Given the description of an element on the screen output the (x, y) to click on. 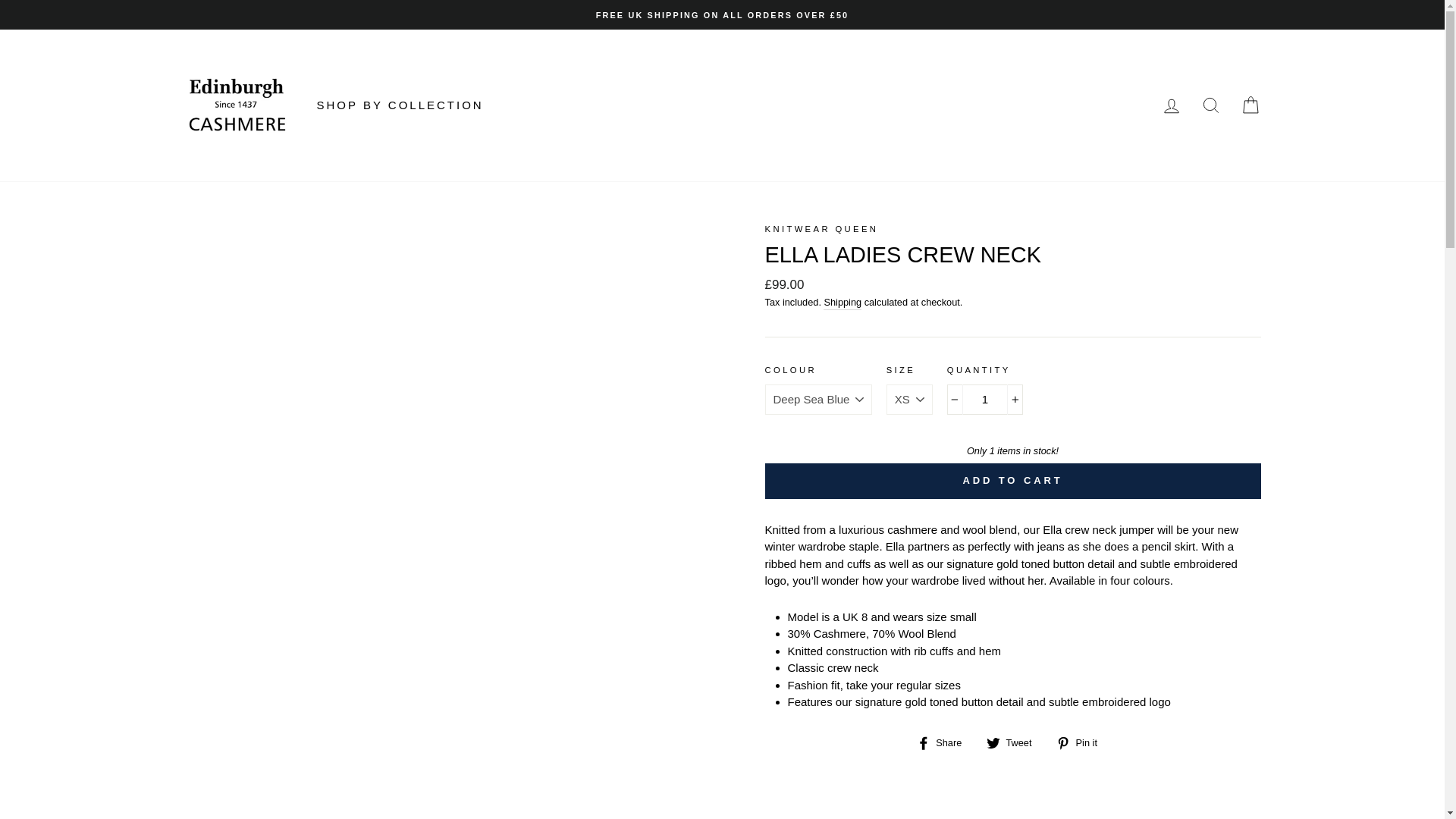
Pin on Pinterest (1082, 742)
1 (985, 399)
Share on Facebook (944, 742)
Tweet on Twitter (1014, 742)
